Given the description of an element on the screen output the (x, y) to click on. 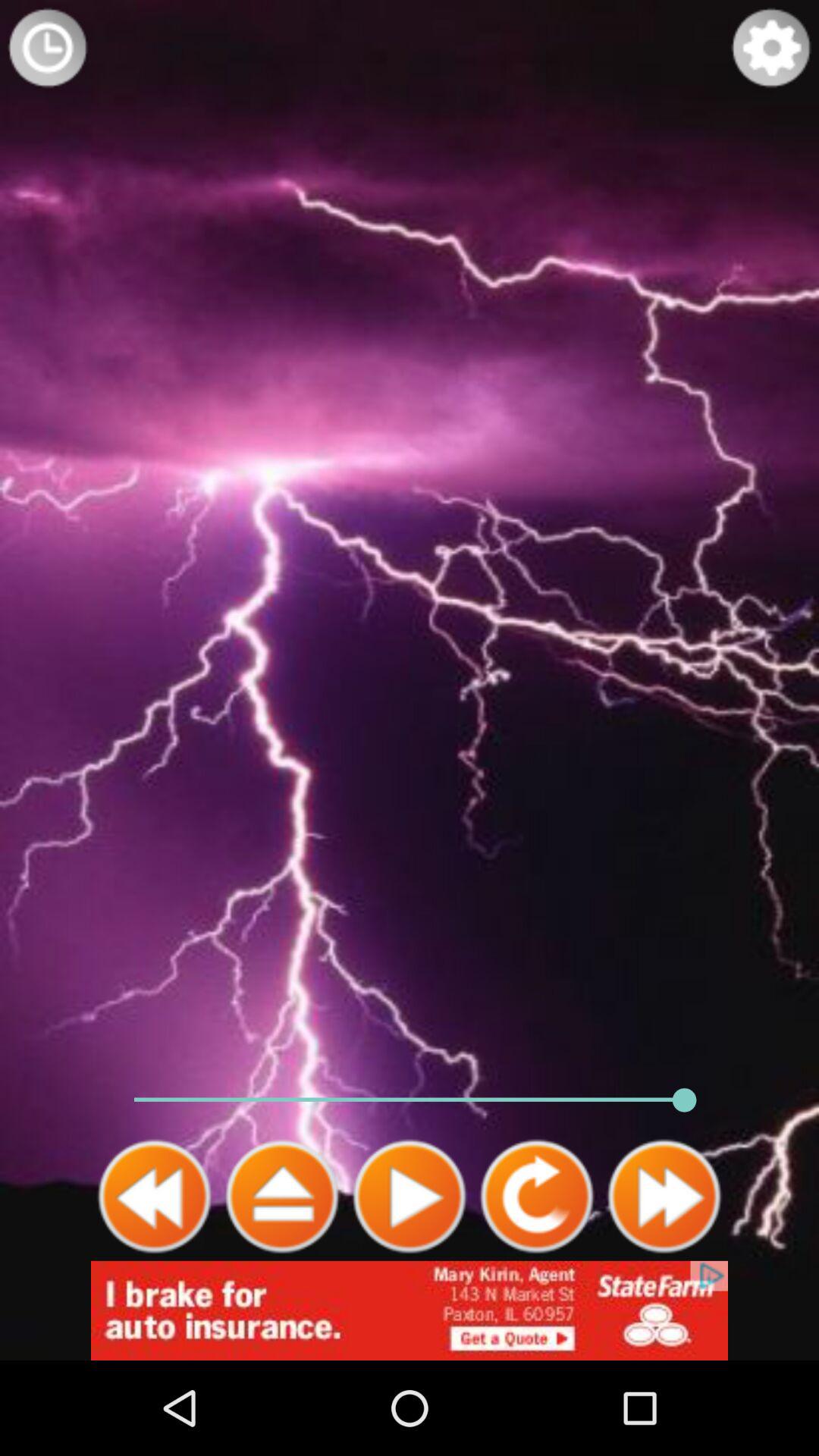
replay button (536, 1196)
